Given the description of an element on the screen output the (x, y) to click on. 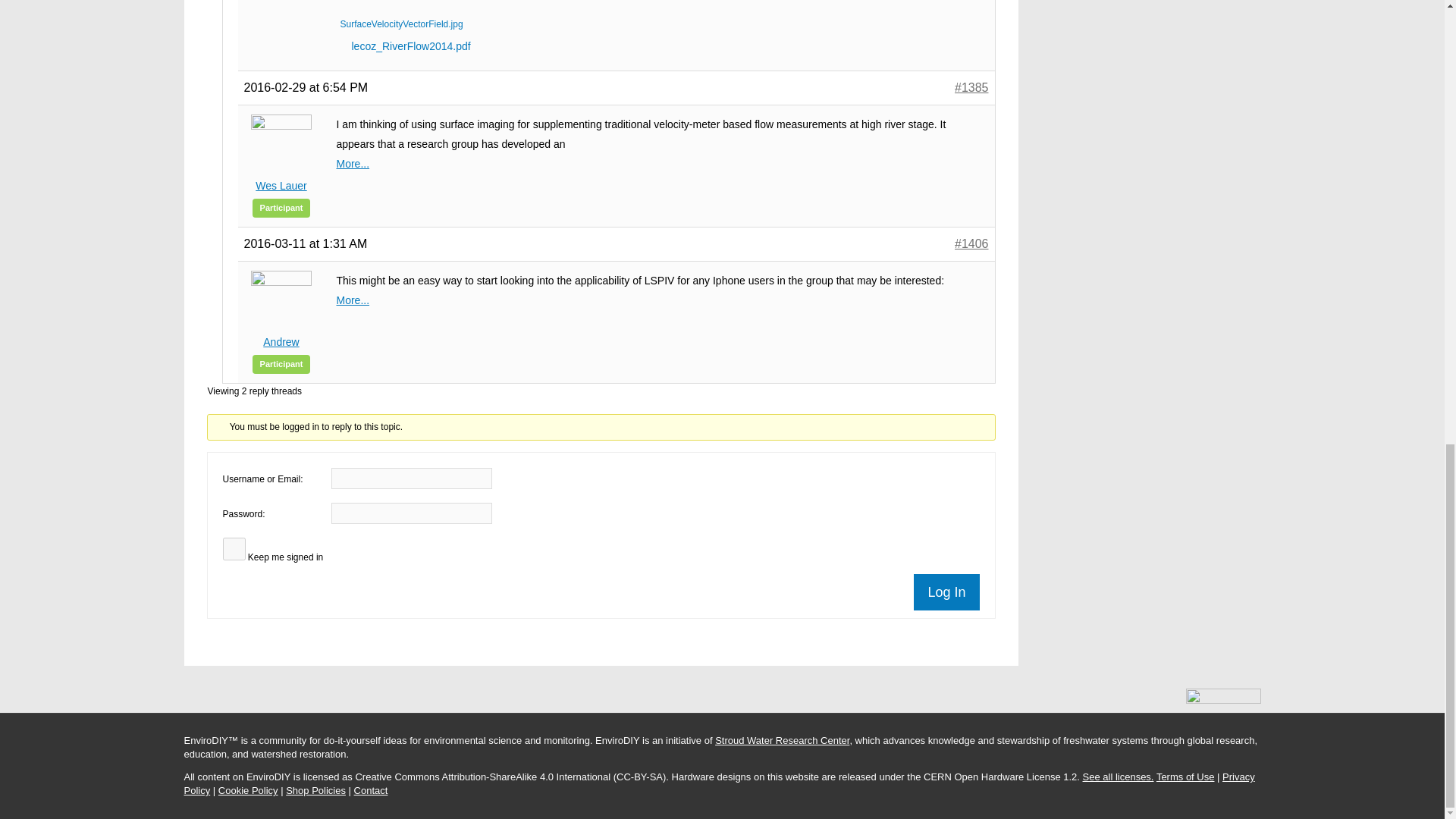
forever (234, 548)
SurfaceVelocityVectorField.jpg (430, 7)
